Given the description of an element on the screen output the (x, y) to click on. 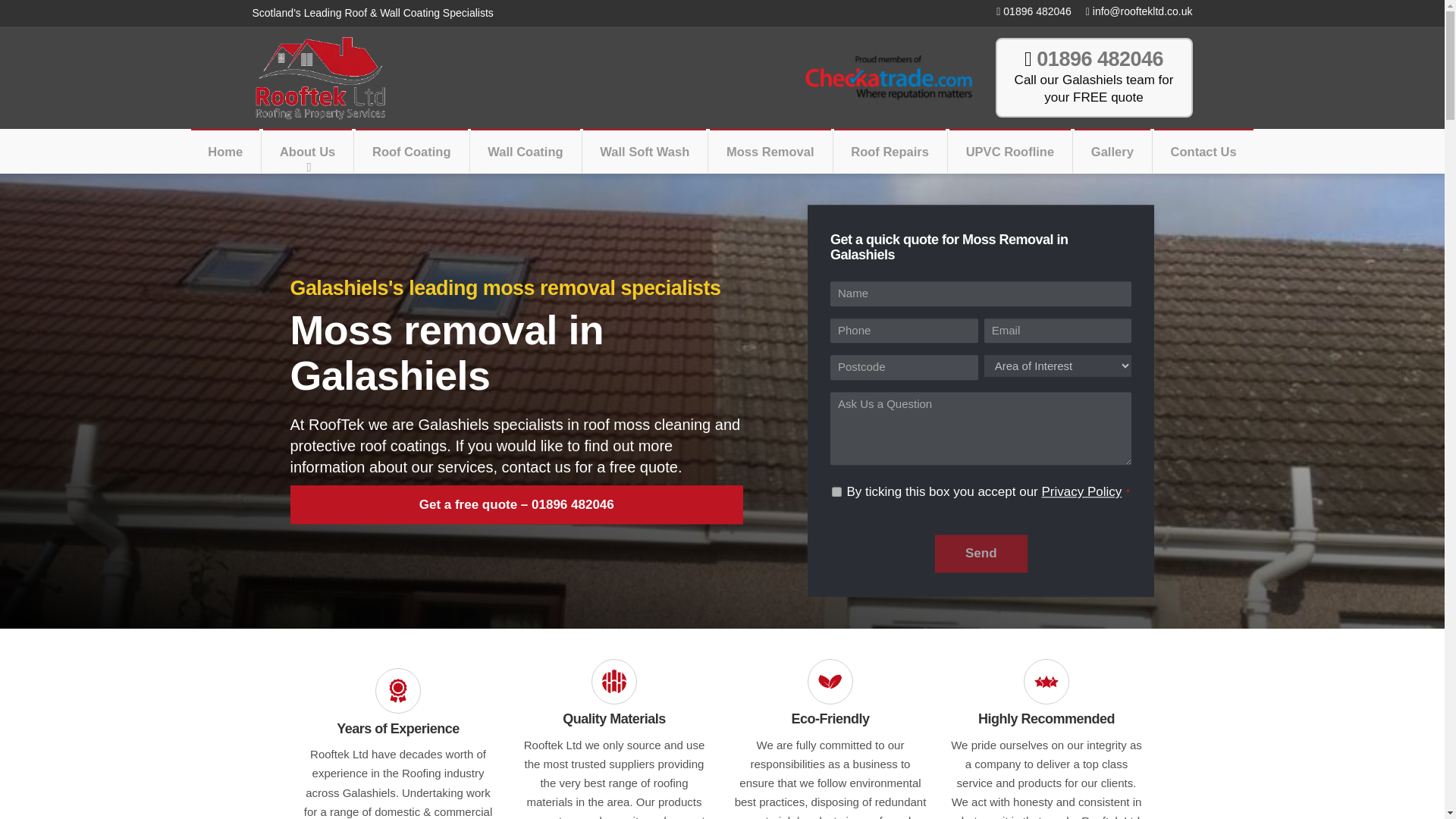
Years of experience (397, 690)
Quality Roof Materials (614, 681)
Wall Coating (524, 151)
Moss Removal (770, 151)
UPVC Roofline (1009, 151)
Roof Coating (411, 151)
Wall Soft Wash (644, 151)
Gallery (1112, 151)
Highly Recommended Moss Removal (1045, 681)
Send (980, 553)
Contact Us (1203, 151)
Send (980, 553)
1 (836, 492)
01896 482046 (1028, 11)
Eco Friendly Roofers (830, 681)
